Given the description of an element on the screen output the (x, y) to click on. 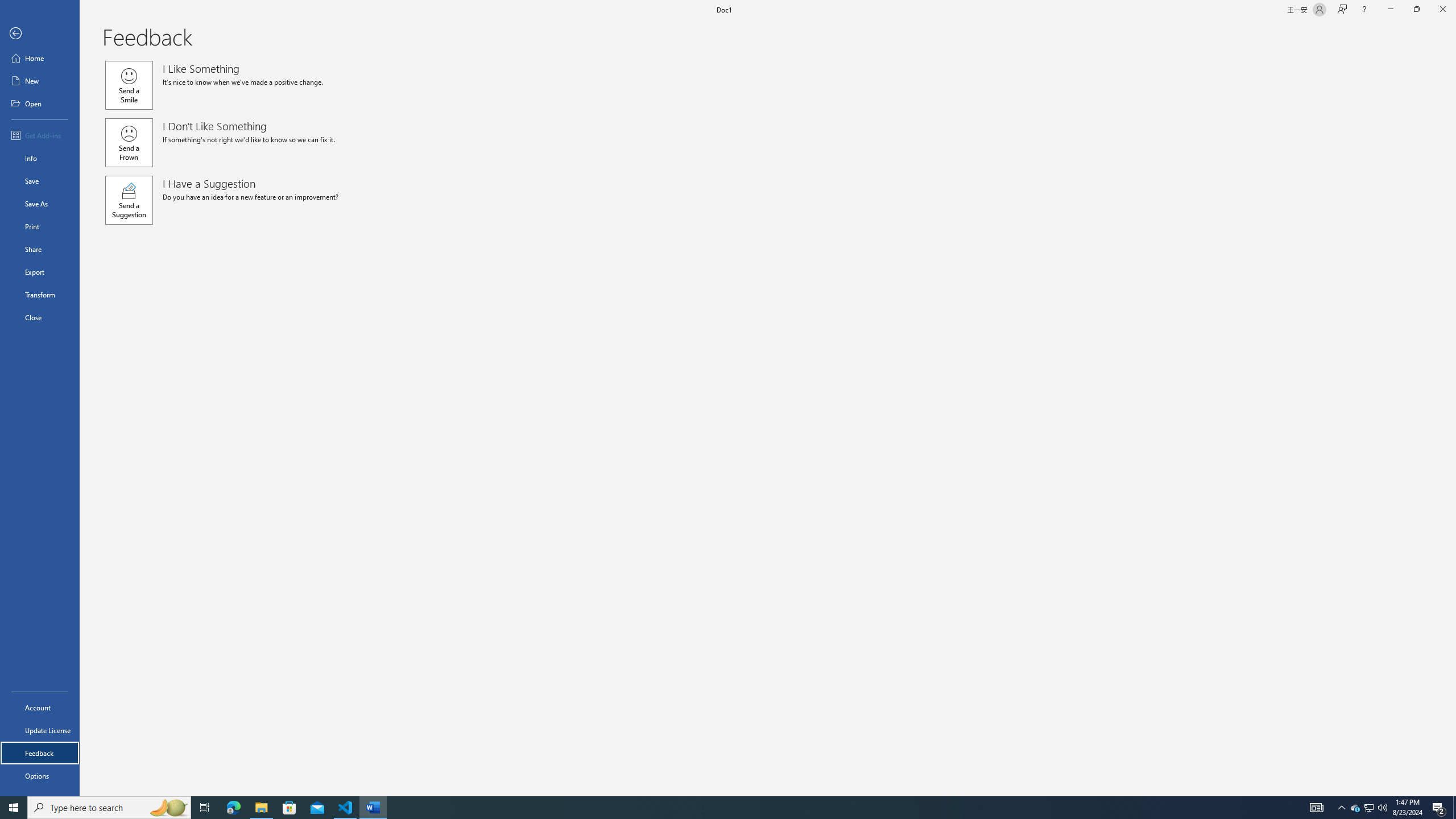
Back (40, 33)
Print (40, 225)
Transform (40, 294)
Save As (40, 203)
Send a Suggestion (128, 200)
Info (40, 157)
